Given the description of an element on the screen output the (x, y) to click on. 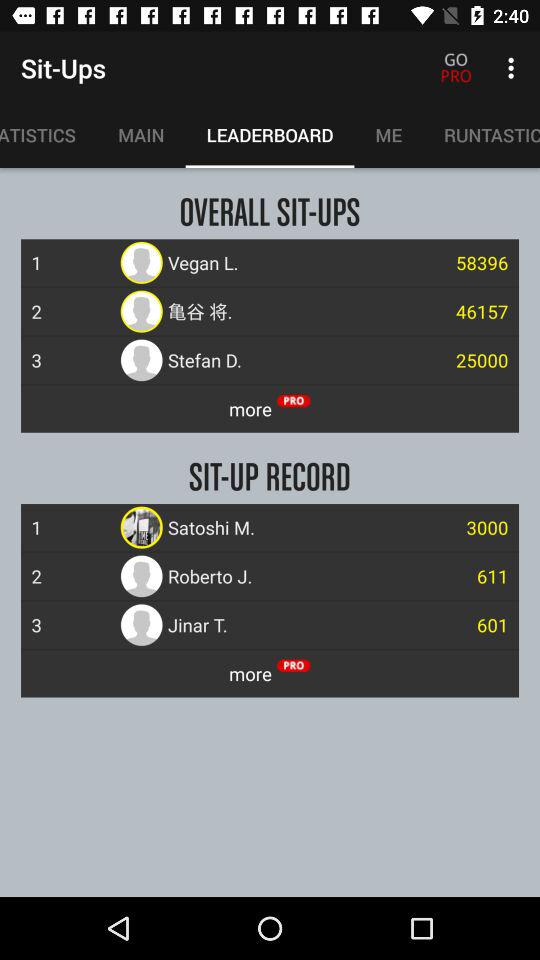
swipe to the main item (141, 135)
